Given the description of an element on the screen output the (x, y) to click on. 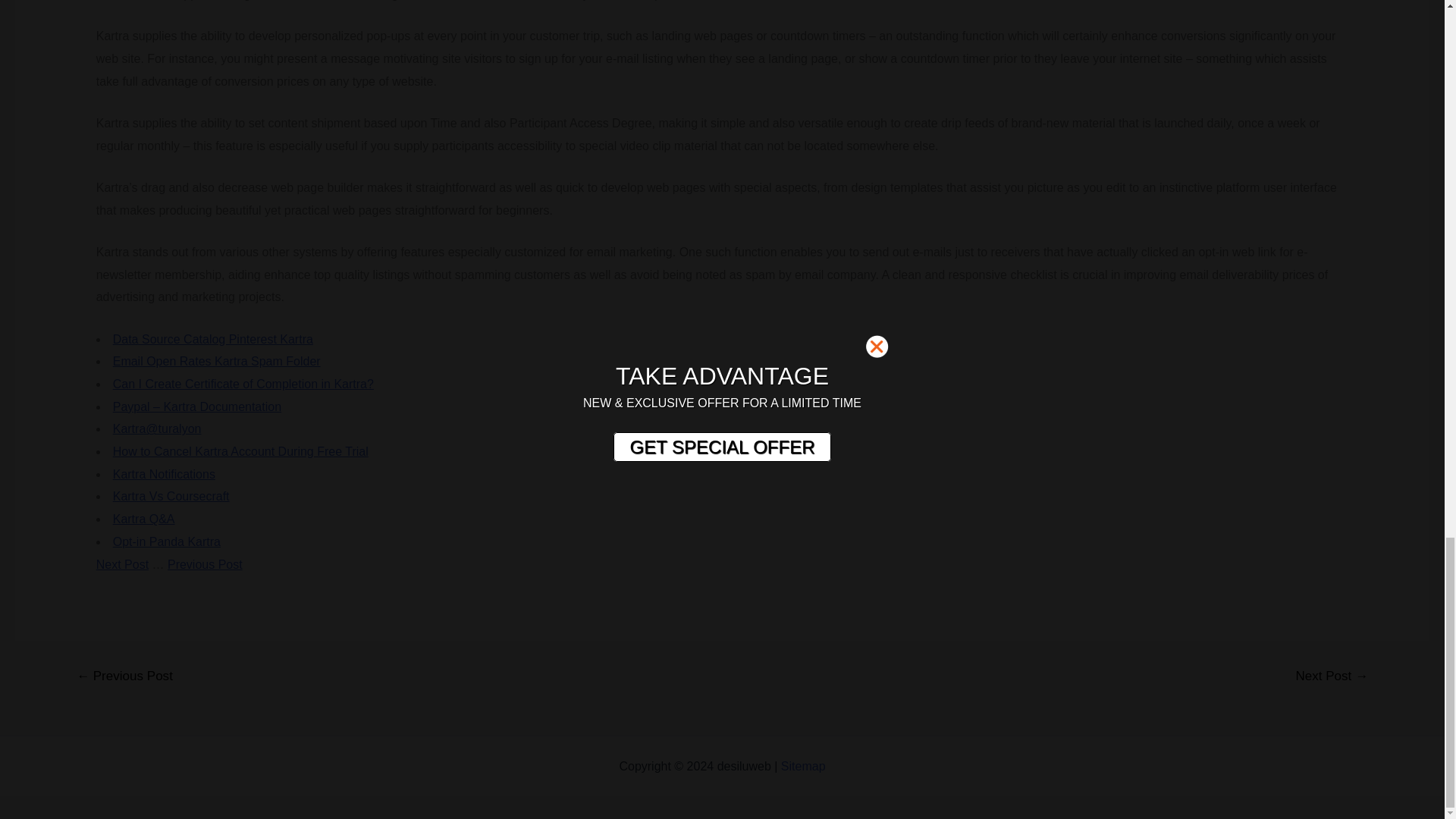
Kartra Notifications (164, 473)
Email Open Rates Kartra Spam Folder (216, 360)
Kartra Vs Coursecraft (171, 495)
Email Open Rates Kartra Spam Folder (216, 360)
Data Source Catalog Pinterest Kartra (213, 338)
Data Source Catalog Pinterest Kartra (213, 338)
How to Cancel Kartra Account During Free Trial (240, 451)
Kartra Vs Coursecraft (171, 495)
Opt-in Panda Kartra (167, 541)
Previous Post (205, 563)
Sitemap (802, 766)
Next Post (122, 563)
How to Cancel Kartra Account During Free Trial (240, 451)
Kartra Notifications (164, 473)
Can I Create Certificate of Completion in Kartra? (243, 383)
